Given the description of an element on the screen output the (x, y) to click on. 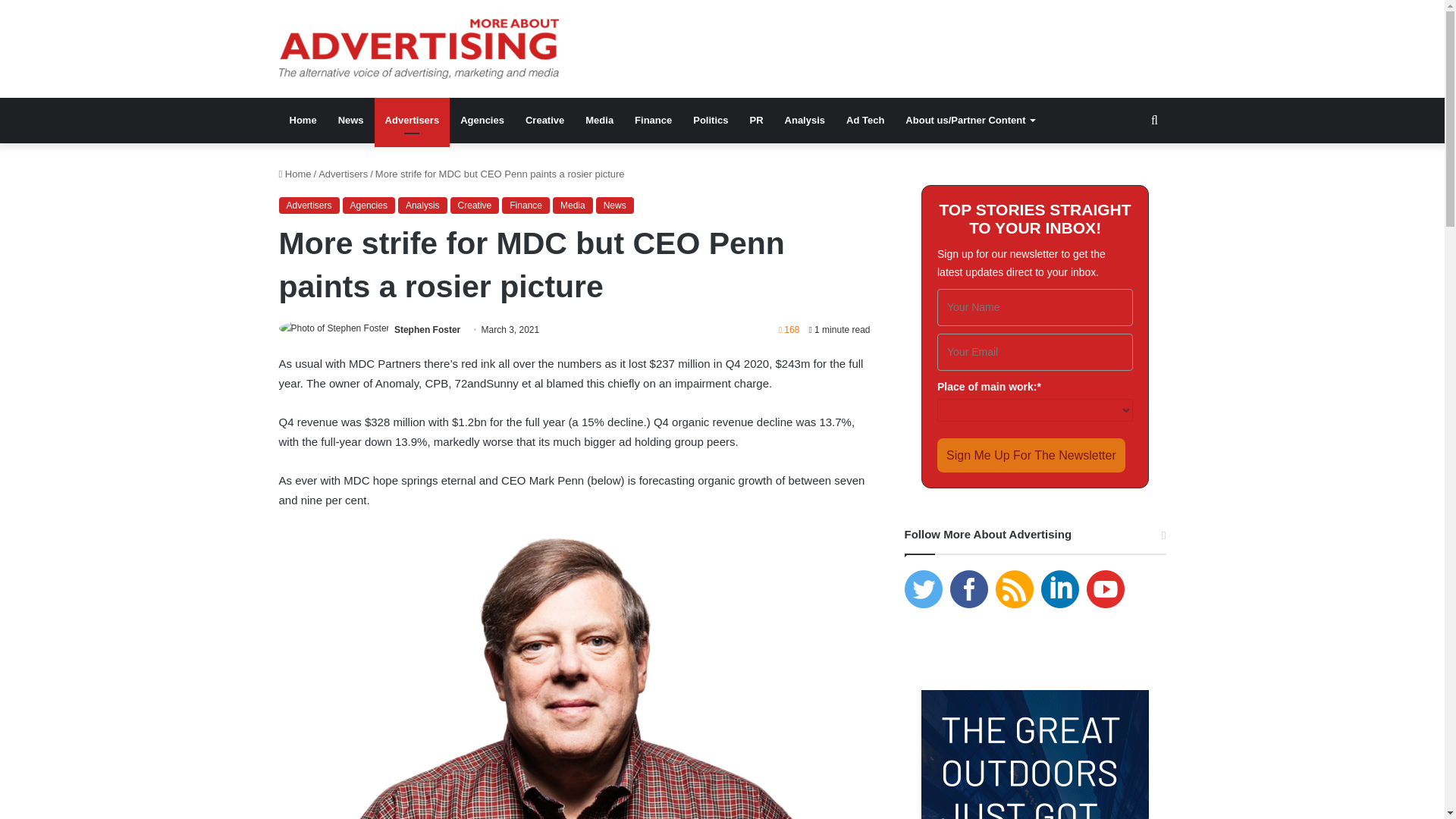
Home (295, 173)
Creative (545, 120)
Finance (526, 205)
News (350, 120)
Search for (1154, 120)
Advertisers (343, 173)
Advertisers (411, 120)
Creative (474, 205)
Ad Tech (865, 120)
Media (572, 205)
More About Advertising (419, 48)
Agencies (482, 120)
Home (303, 120)
PR (755, 120)
Finance (653, 120)
